Given the description of an element on the screen output the (x, y) to click on. 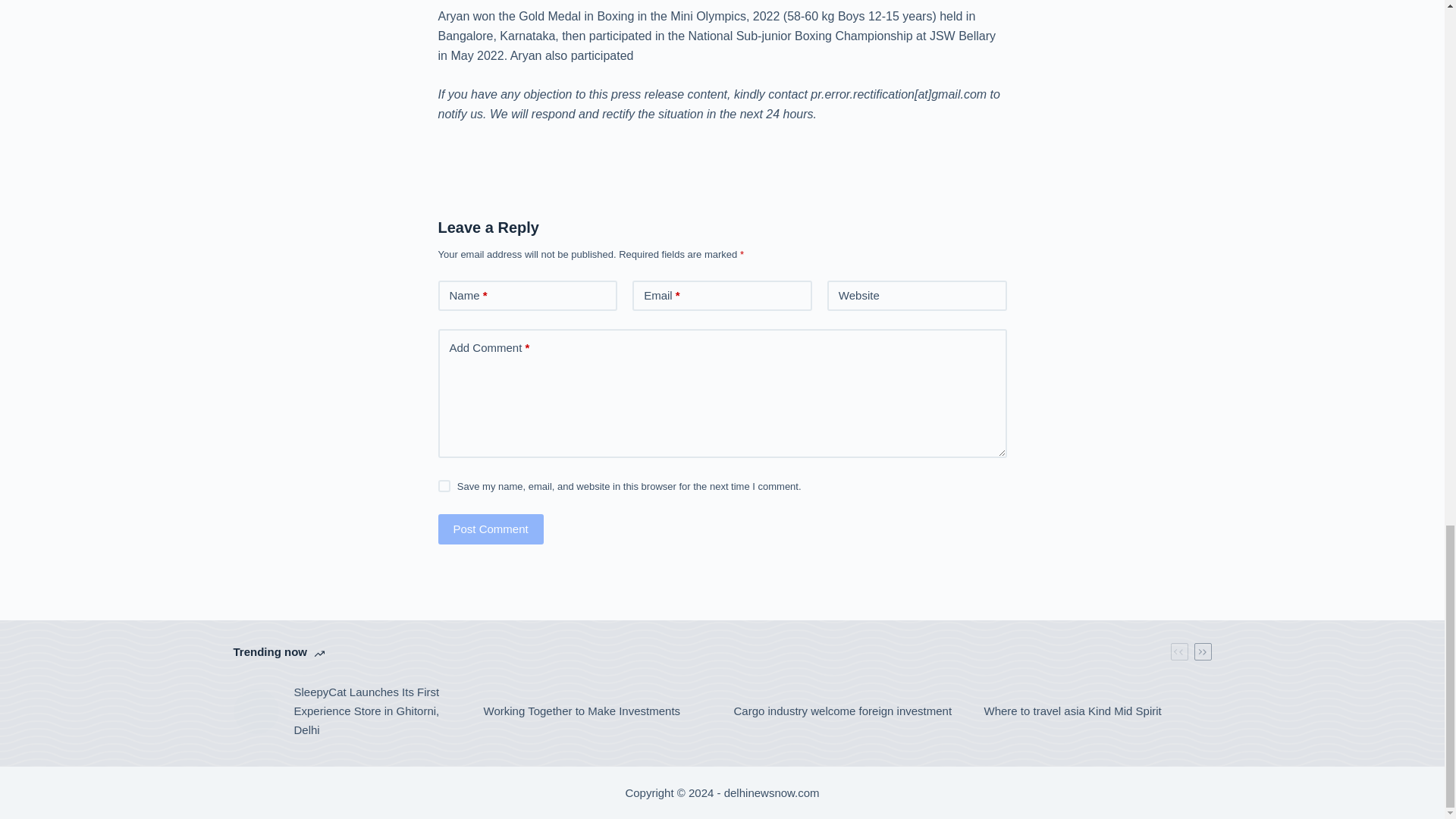
yes (443, 485)
Cargo industry welcome foreign investment (842, 711)
Working Together to Make Investments (582, 711)
Post Comment (490, 529)
Where to travel asia Kind Mid Spirit (1072, 711)
